Given the description of an element on the screen output the (x, y) to click on. 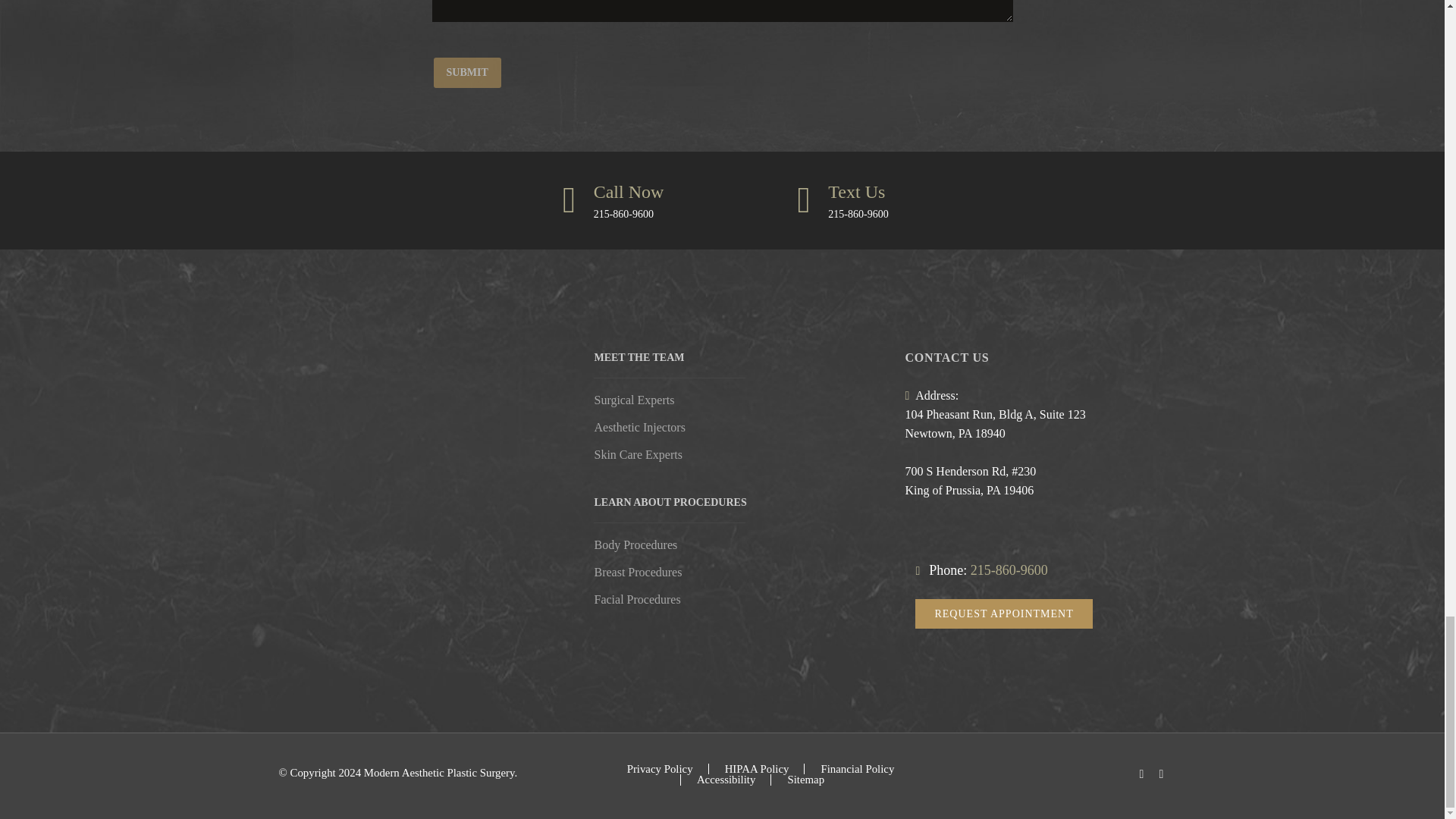
Instagram (1160, 774)
Facebook (1141, 774)
Submit (466, 72)
